Given the description of an element on the screen output the (x, y) to click on. 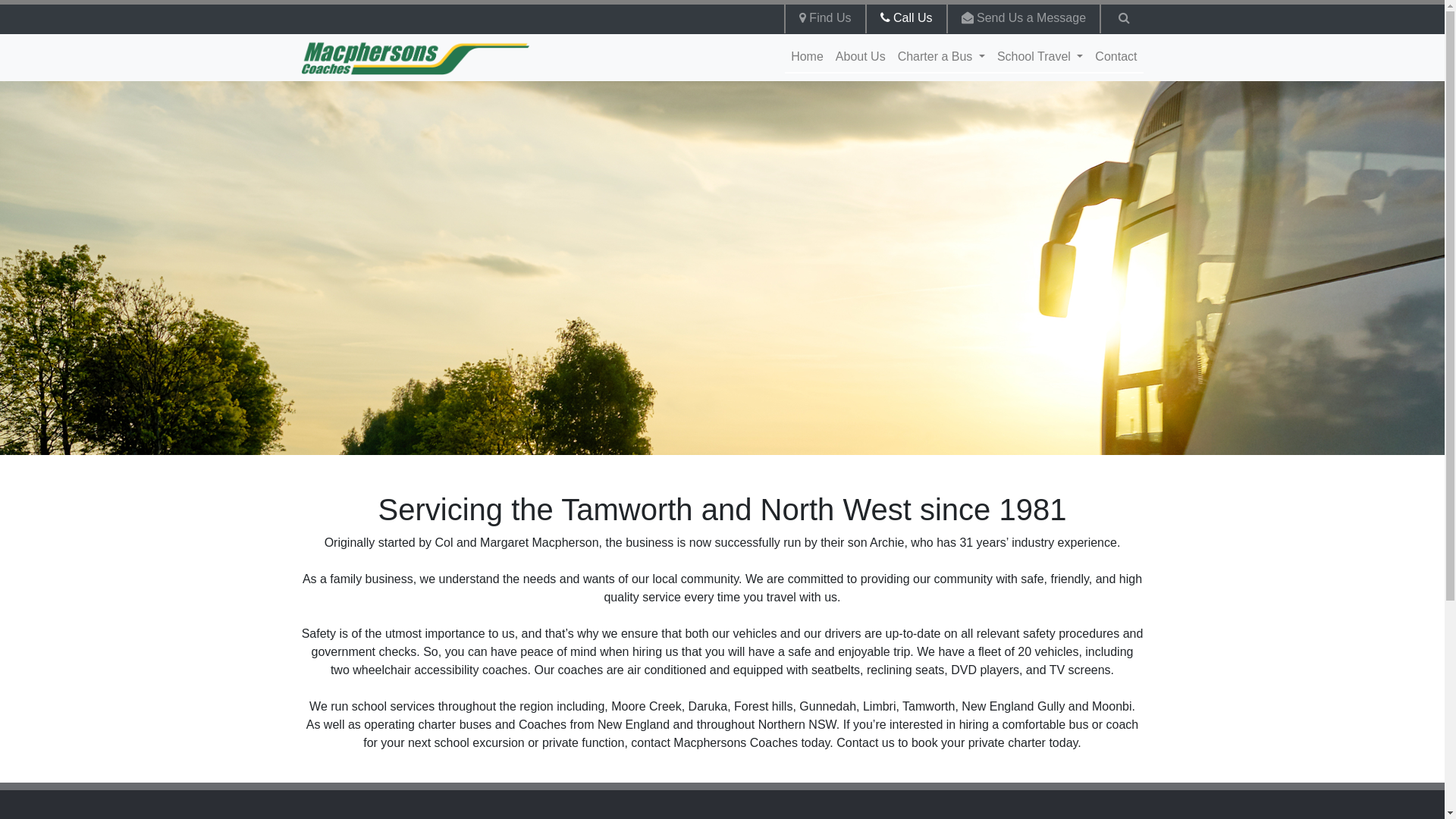
Send Us a Message Element type: text (1023, 18)
Contact Element type: text (1115, 56)
About Us Element type: text (860, 56)
Find Us Element type: text (825, 18)
School Travel Element type: text (1039, 56)
Call Us Element type: text (905, 18)
Charter a Bus Element type: text (941, 56)
Home Element type: text (806, 56)
  Element type: text (1121, 18)
